Given the description of an element on the screen output the (x, y) to click on. 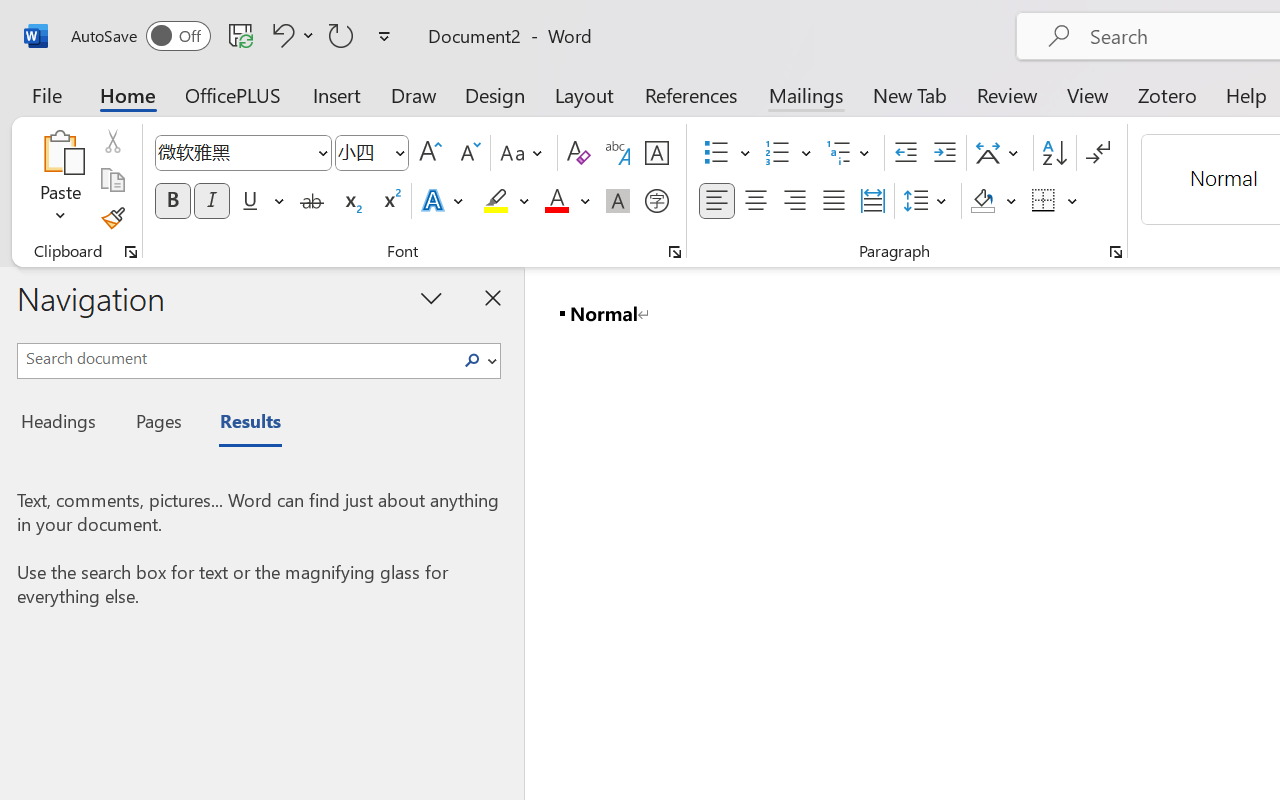
Customize Quick Access Toolbar (384, 35)
Strikethrough (312, 201)
Layout (584, 94)
Sort... (1054, 153)
Increase Indent (944, 153)
Underline (250, 201)
Clear Formatting (578, 153)
Asian Layout (1000, 153)
Numbering (778, 153)
